Given the description of an element on the screen output the (x, y) to click on. 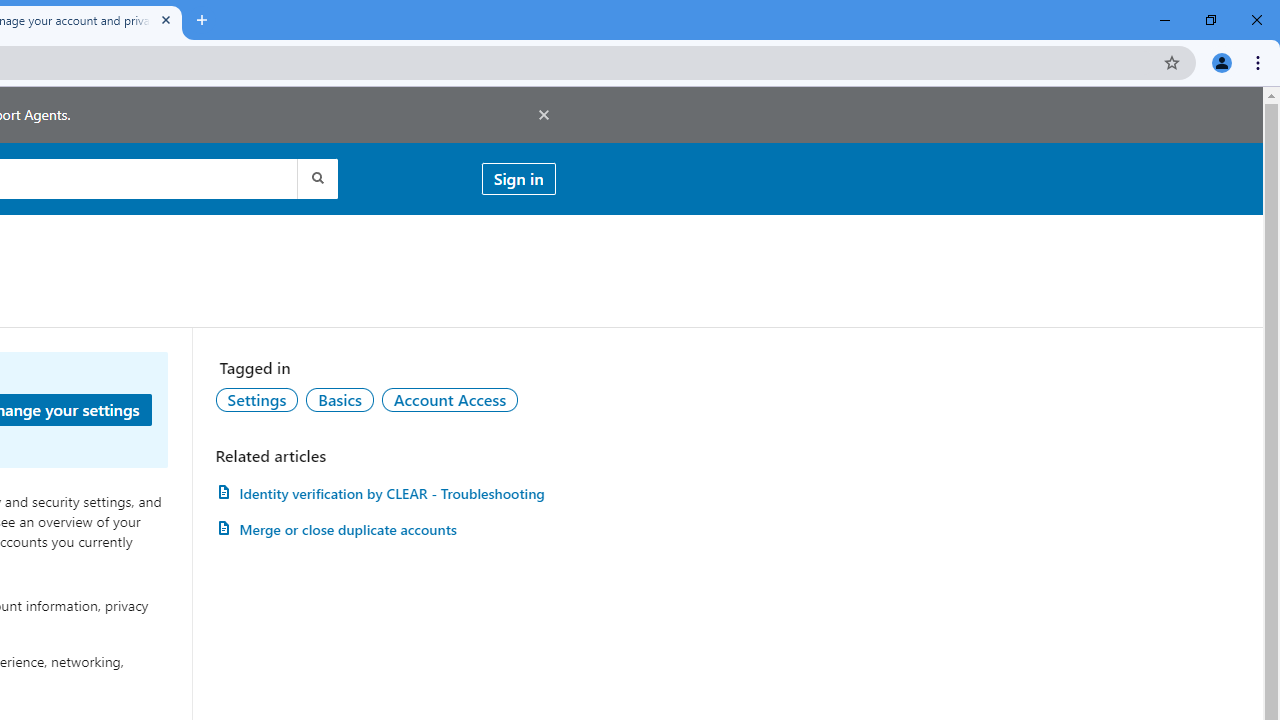
AutomationID: article-link-a1457505 (385, 493)
AutomationID: article-link-a1337200 (385, 529)
